Given the description of an element on the screen output the (x, y) to click on. 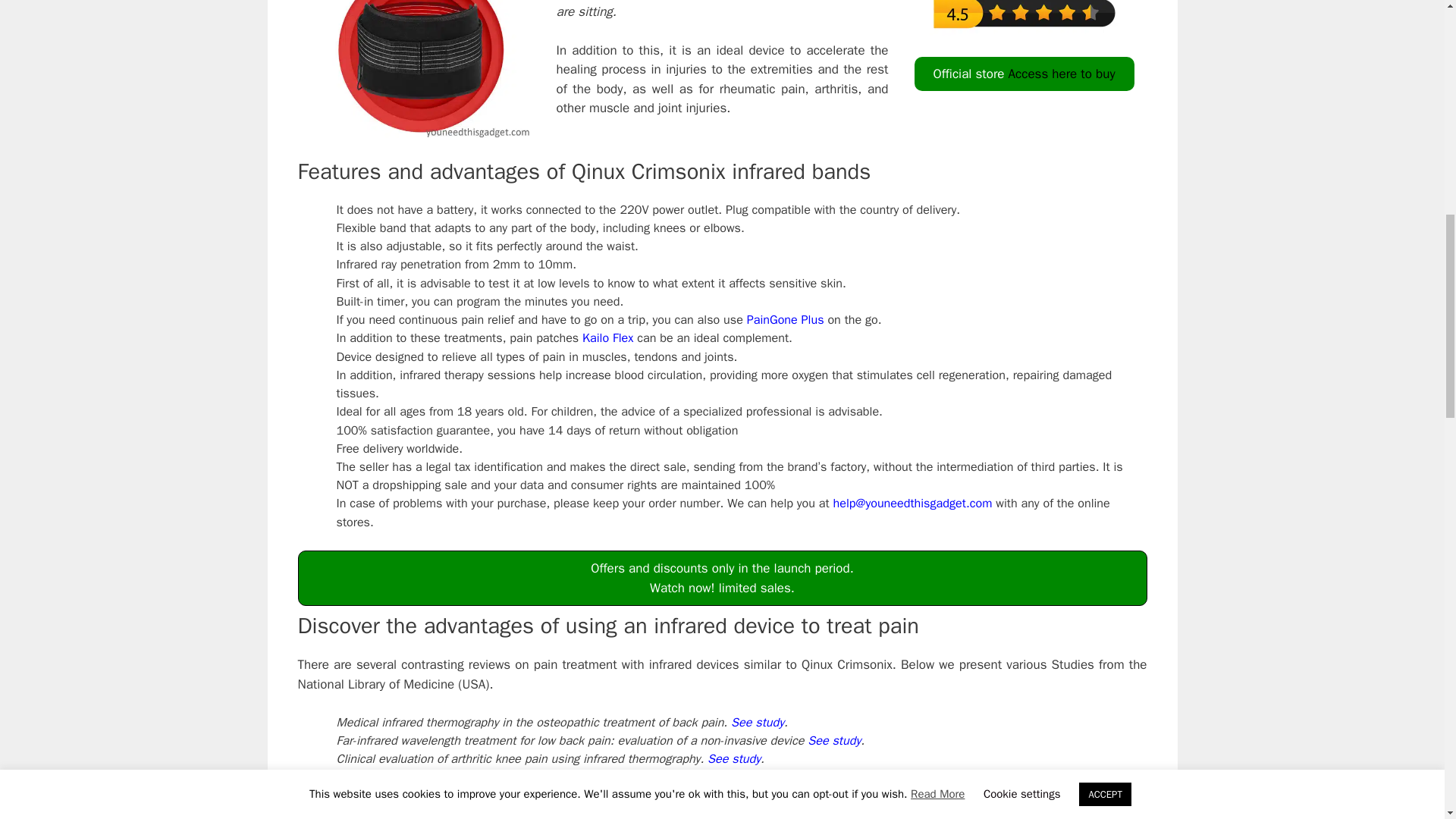
PainGone Plus (785, 319)
Kailo Flex  (607, 337)
